Given the description of an element on the screen output the (x, y) to click on. 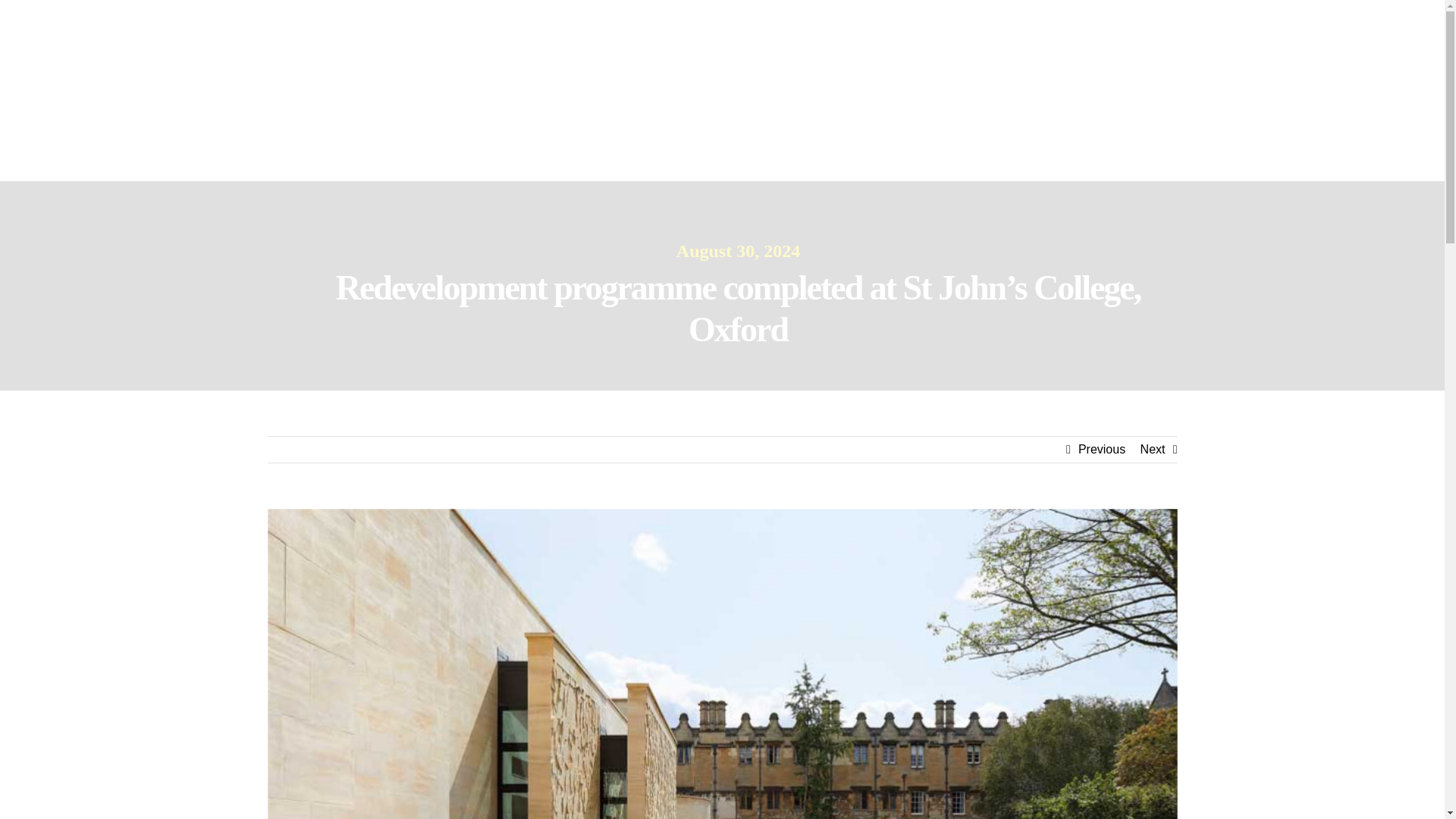
Previous (1101, 449)
Next (1153, 449)
